Given the description of an element on the screen output the (x, y) to click on. 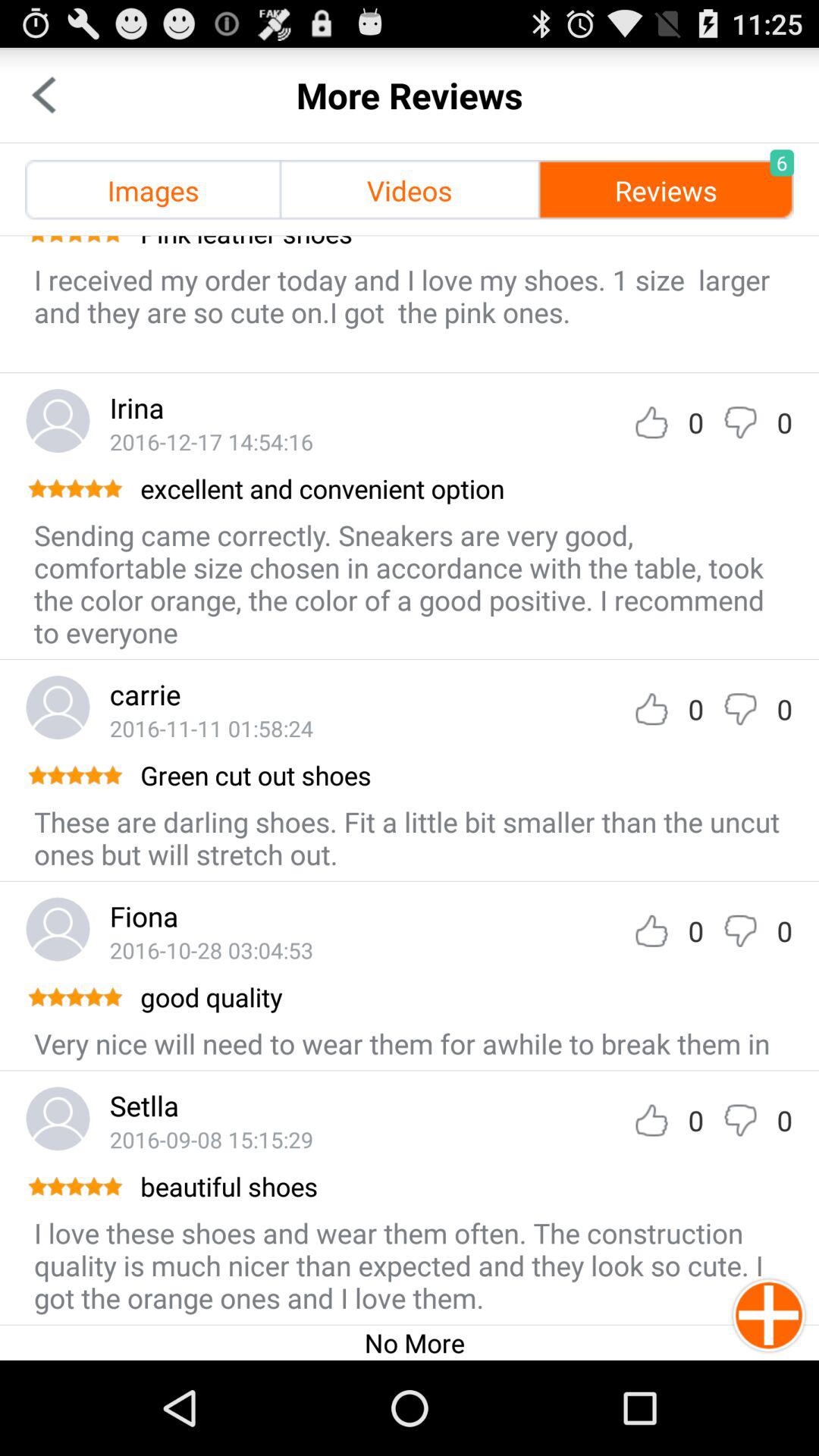
turn off 2016 09 08 item (211, 1139)
